Given the description of an element on the screen output the (x, y) to click on. 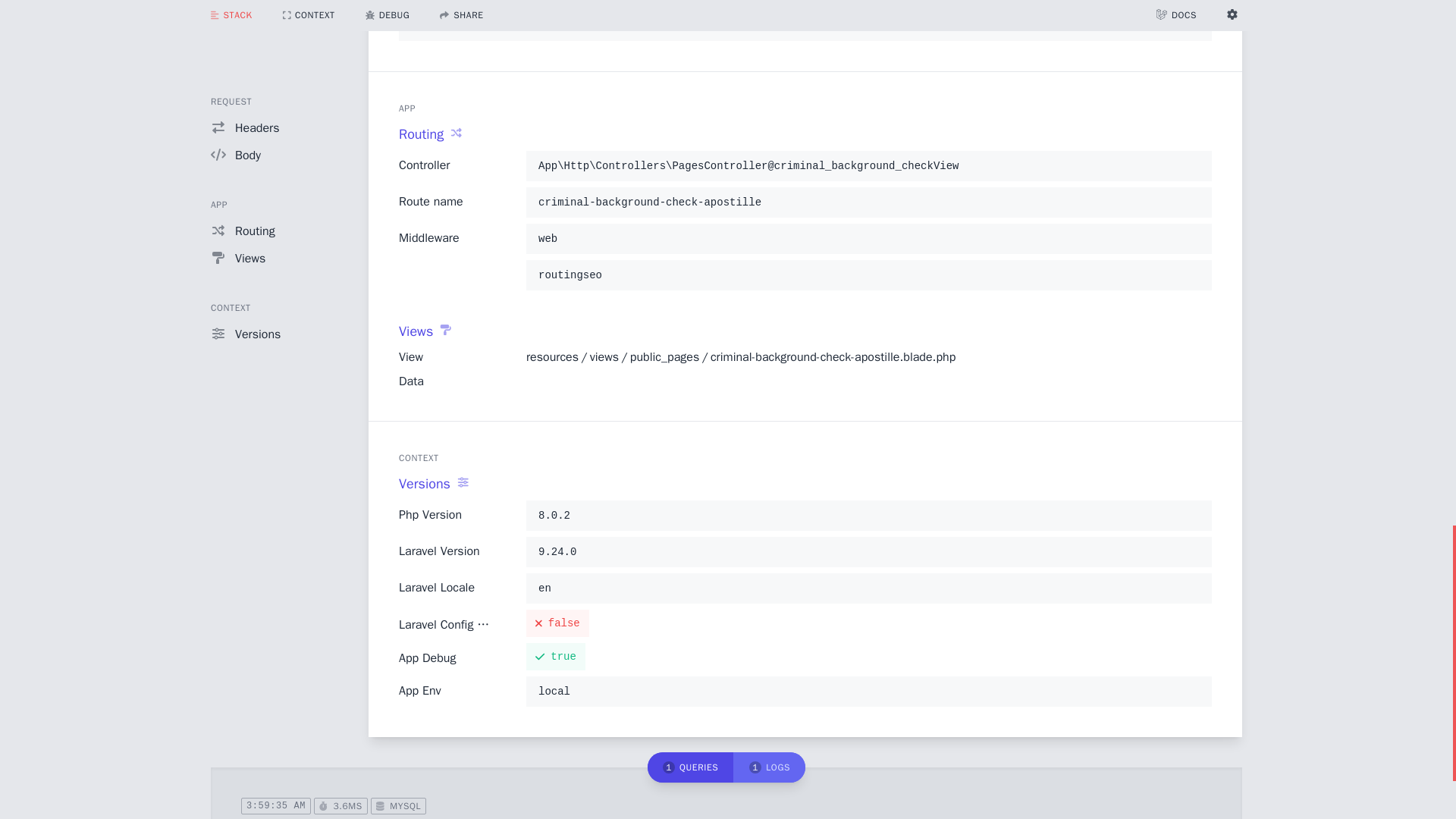
web (868, 238)
en (868, 588)
9.24.0 (868, 551)
criminal-background-check-apostille (868, 201)
8.0.2 (868, 515)
local (868, 691)
routingseo (868, 274)
